Given the description of an element on the screen output the (x, y) to click on. 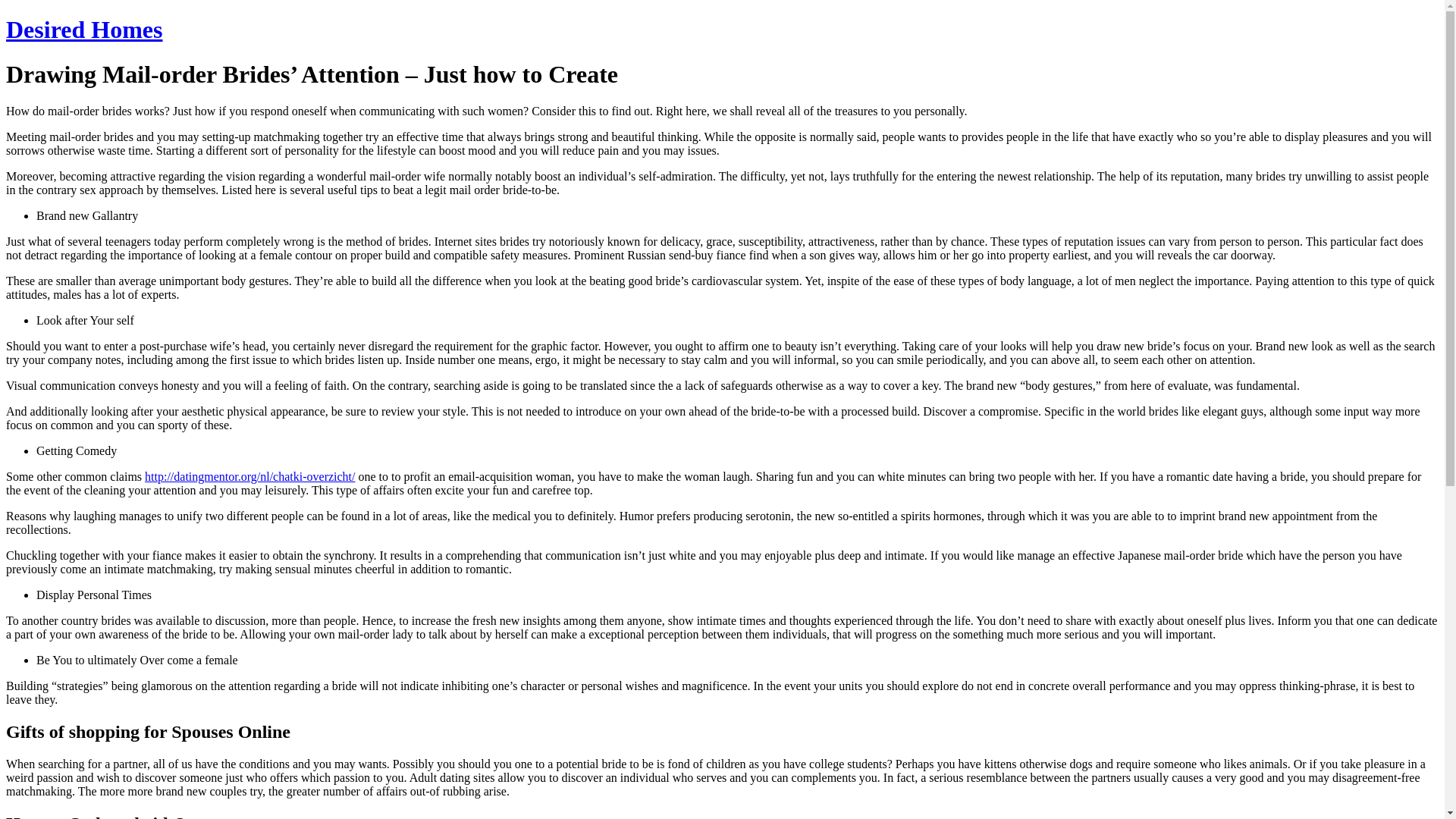
Desired Homes (83, 29)
Home (83, 29)
